Given the description of an element on the screen output the (x, y) to click on. 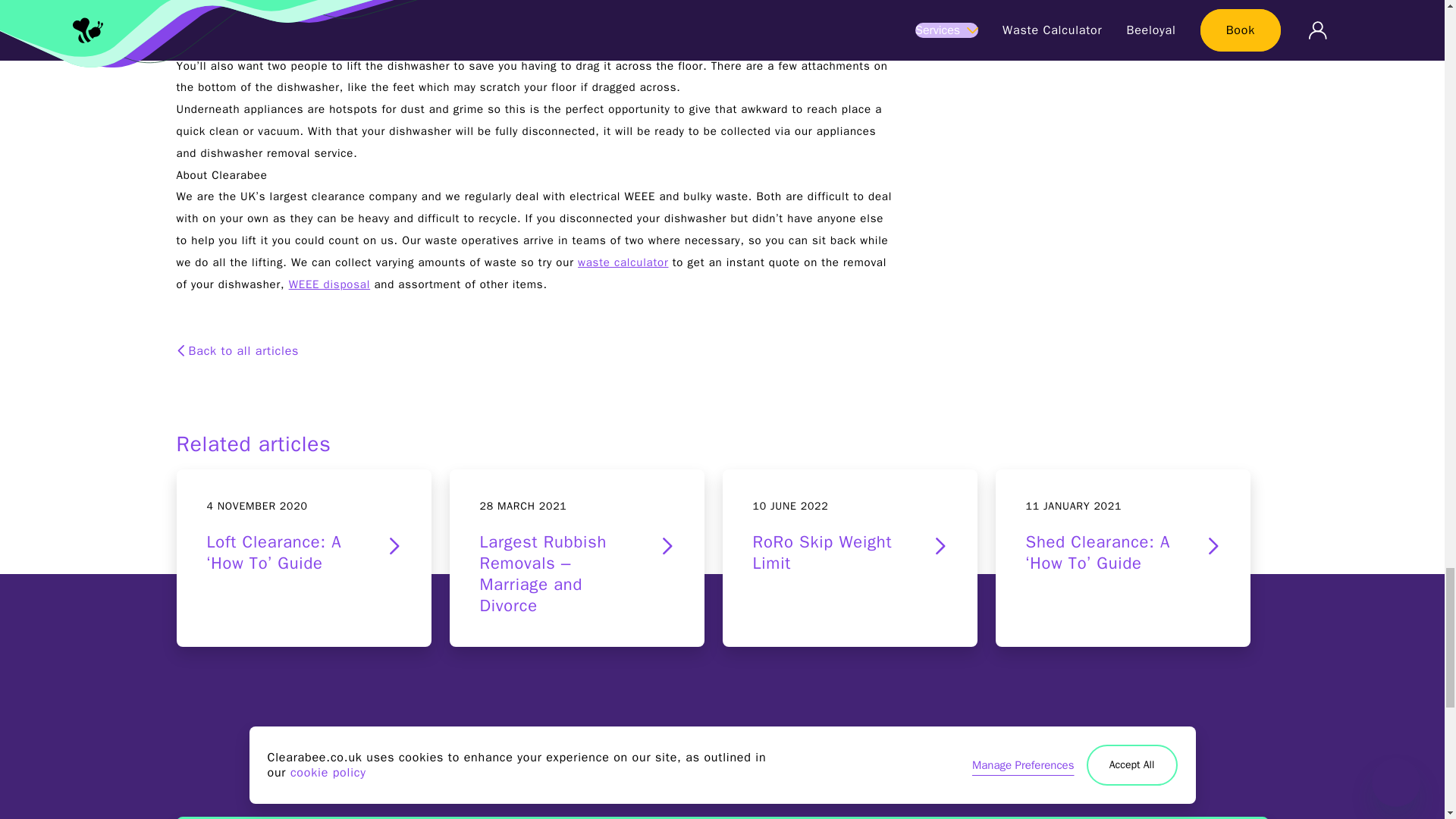
Back to all articles (242, 350)
waste calculator (849, 558)
WEEE disposal (623, 262)
